Given the description of an element on the screen output the (x, y) to click on. 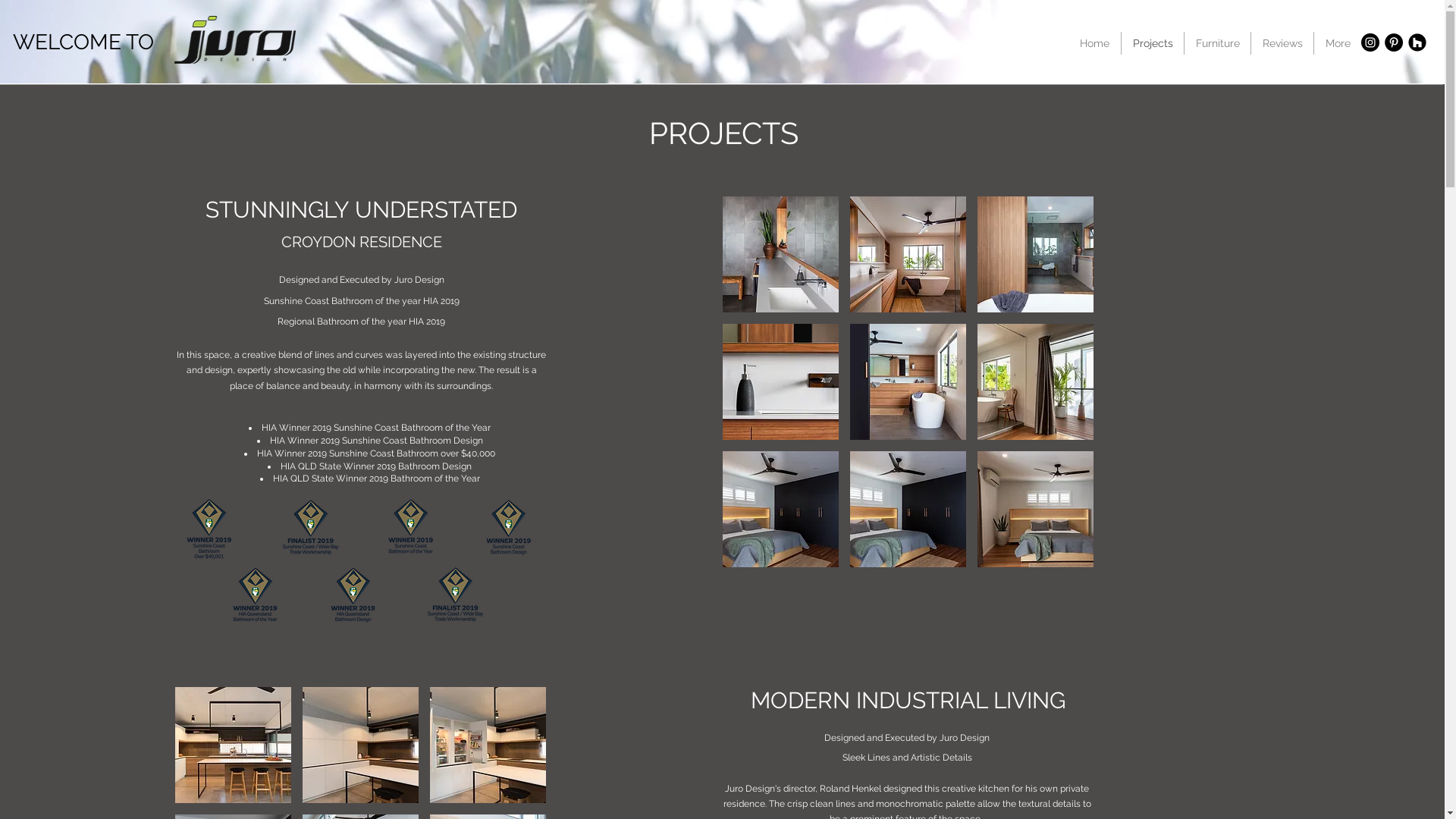
Projects Element type: text (1151, 42)
Furniture Element type: text (1216, 42)
Reviews Element type: text (1281, 42)
Home Element type: text (1094, 42)
